Given the description of an element on the screen output the (x, y) to click on. 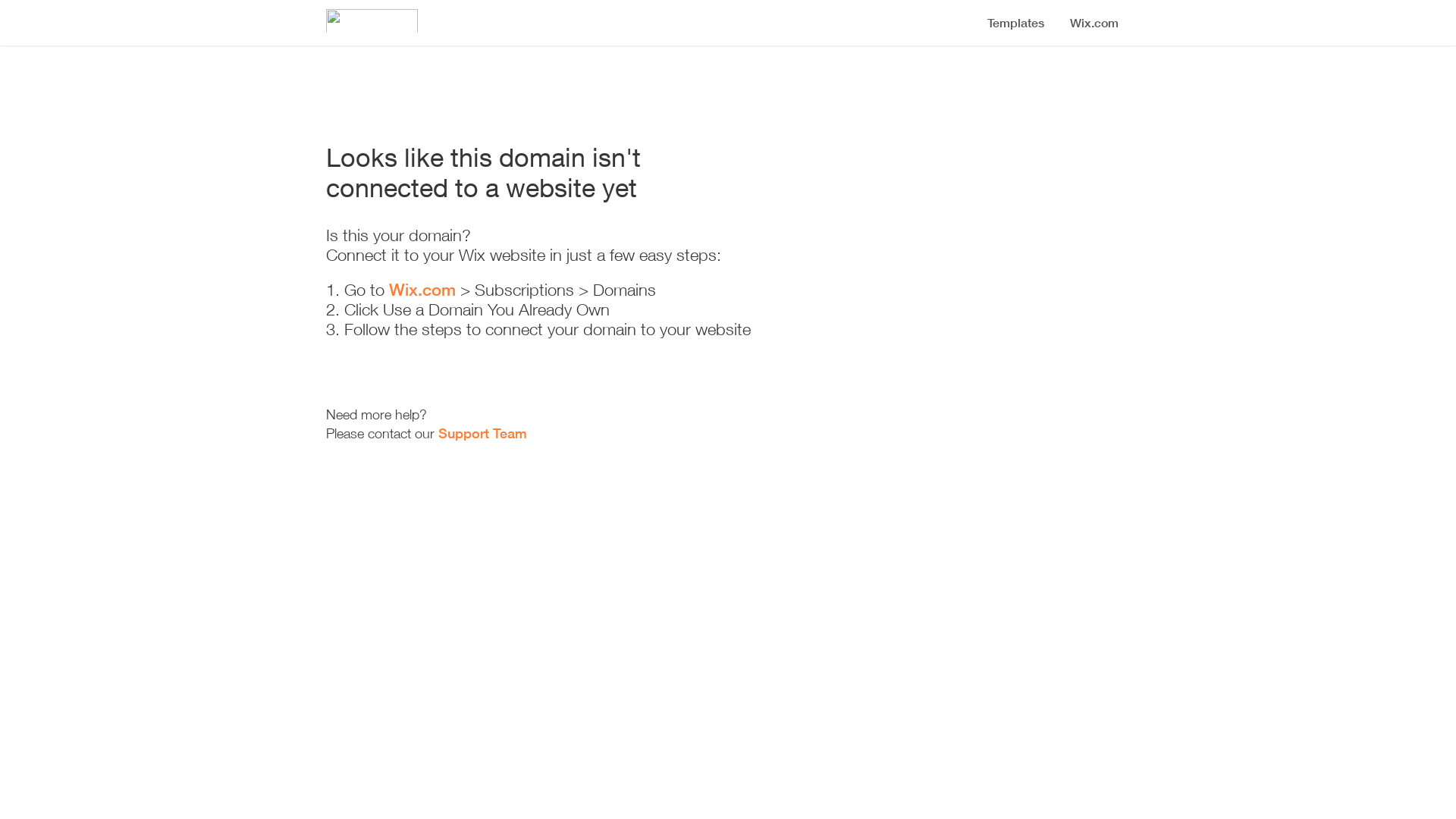
Support Team Element type: text (482, 432)
Wix.com Element type: text (422, 289)
